Given the description of an element on the screen output the (x, y) to click on. 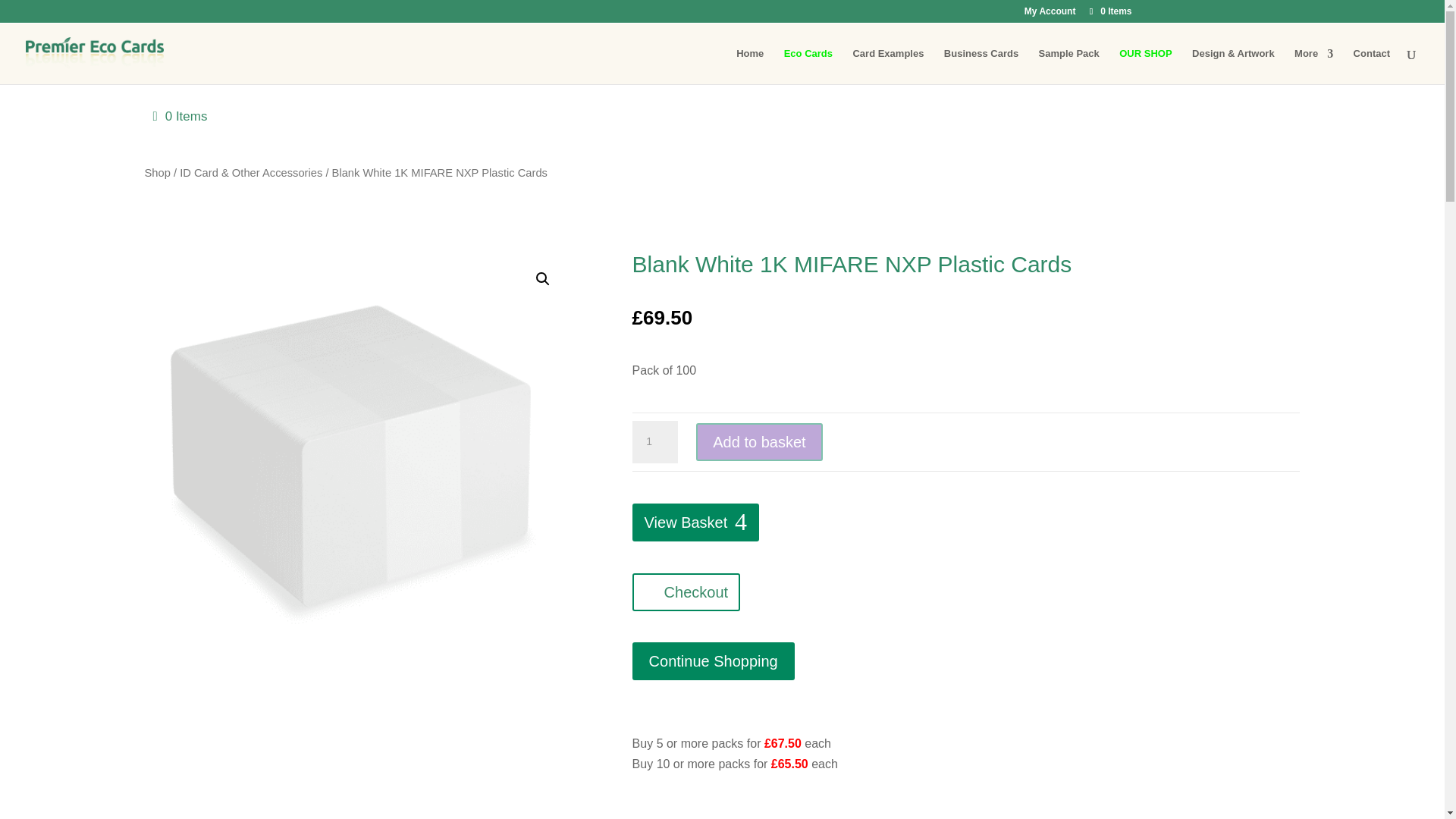
Business Cards (980, 66)
My Account (1050, 14)
0 Items (1108, 10)
Contact (1372, 66)
OUR SHOP (1145, 66)
Continue Shopping (712, 661)
0 Items (180, 116)
Card Examples (887, 66)
View Basket (695, 522)
